Given the description of an element on the screen output the (x, y) to click on. 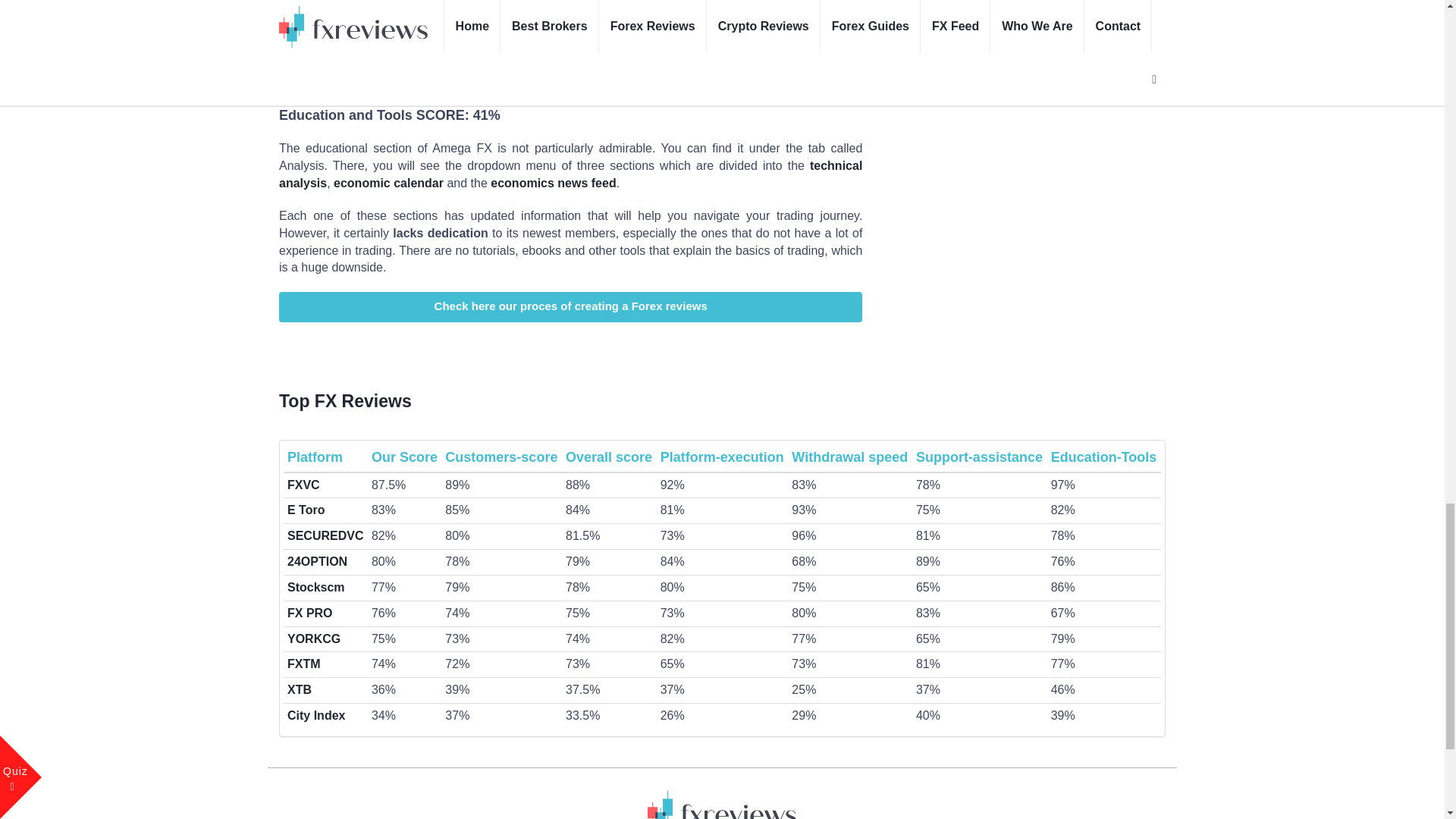
Check here our proces of creating a Forex reviews (570, 306)
economics news feed (552, 182)
economic calendar (388, 182)
contact their customer support (608, 13)
technical analysis (570, 173)
